Given the description of an element on the screen output the (x, y) to click on. 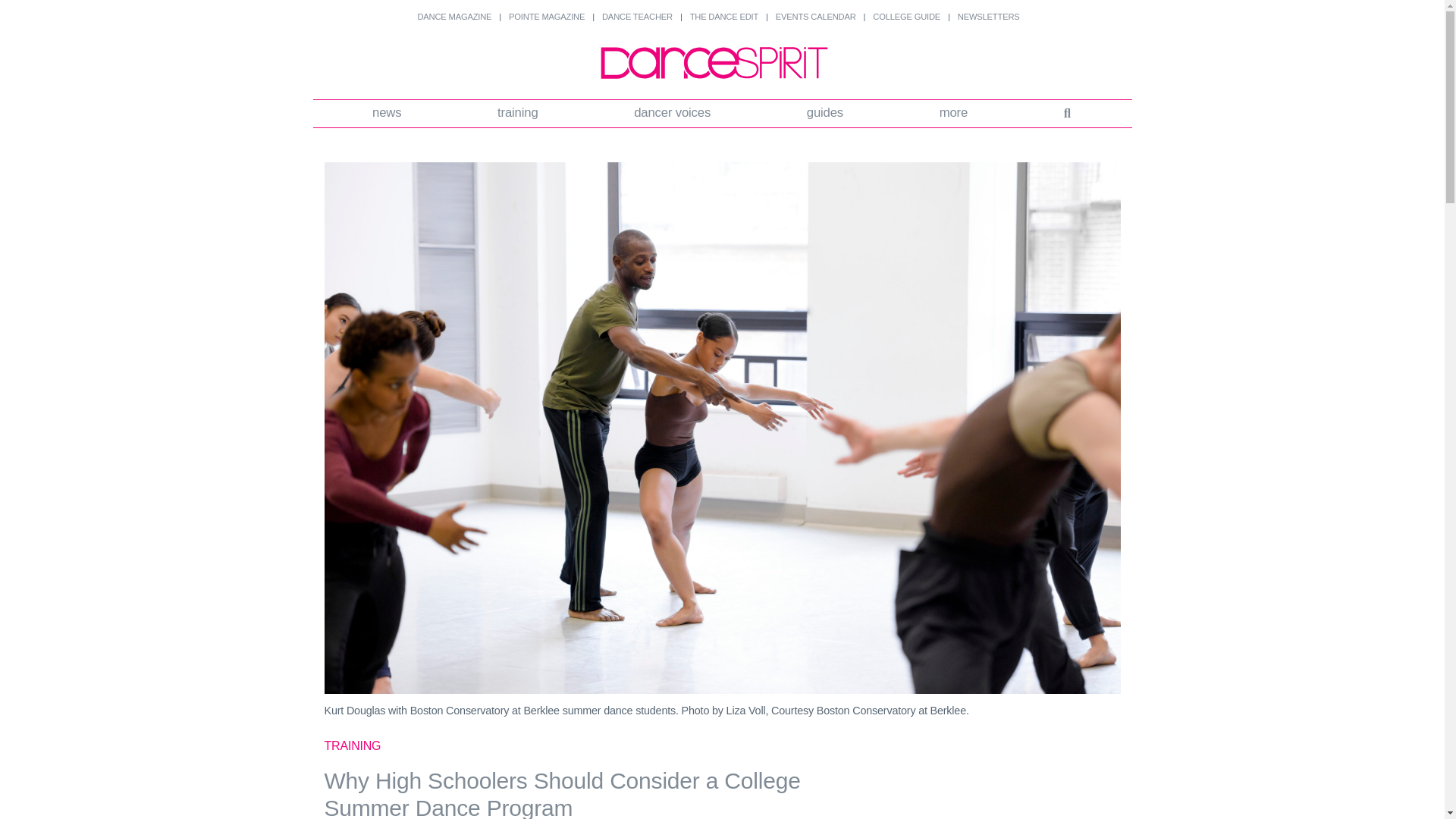
training (517, 113)
guides (823, 113)
news (387, 113)
THE DANCE EDIT (724, 16)
COLLEGE GUIDE (906, 16)
more (953, 113)
3rd party ad content (1005, 777)
DANCE TEACHER (637, 16)
EVENTS CALENDAR (816, 16)
DANCE MAGAZINE (454, 16)
dancer voices (672, 113)
NEWSLETTERS (989, 16)
POINTE MAGAZINE (546, 16)
